Given the description of an element on the screen output the (x, y) to click on. 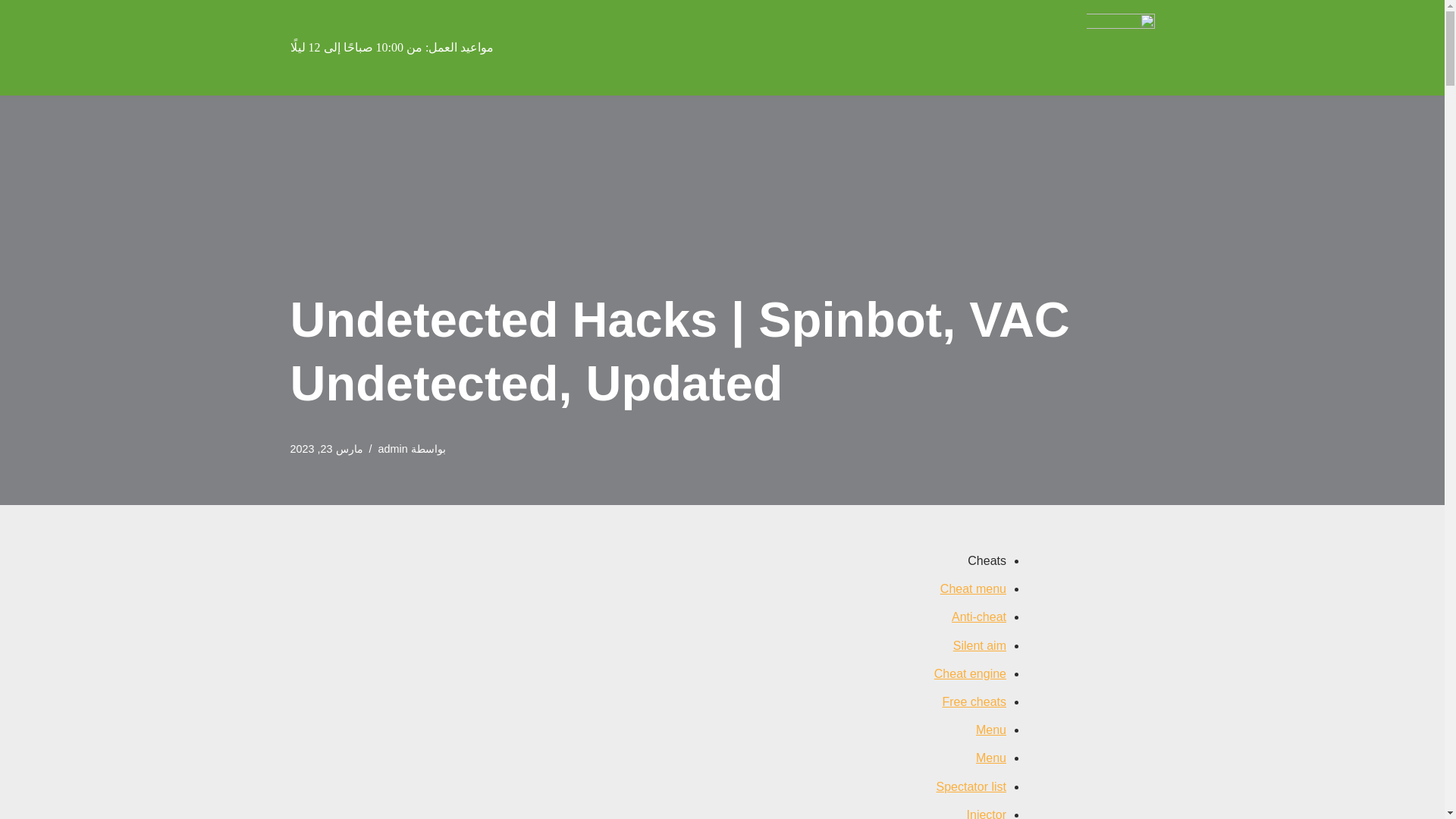
Menu (990, 729)
Silent aim (979, 645)
Anti-cheat (979, 616)
Cheat menu (973, 588)
Injector (986, 813)
Menu (990, 757)
Cheat engine (970, 673)
Free cheats (974, 701)
Spectator list (971, 785)
admin (392, 449)
